Given the description of an element on the screen output the (x, y) to click on. 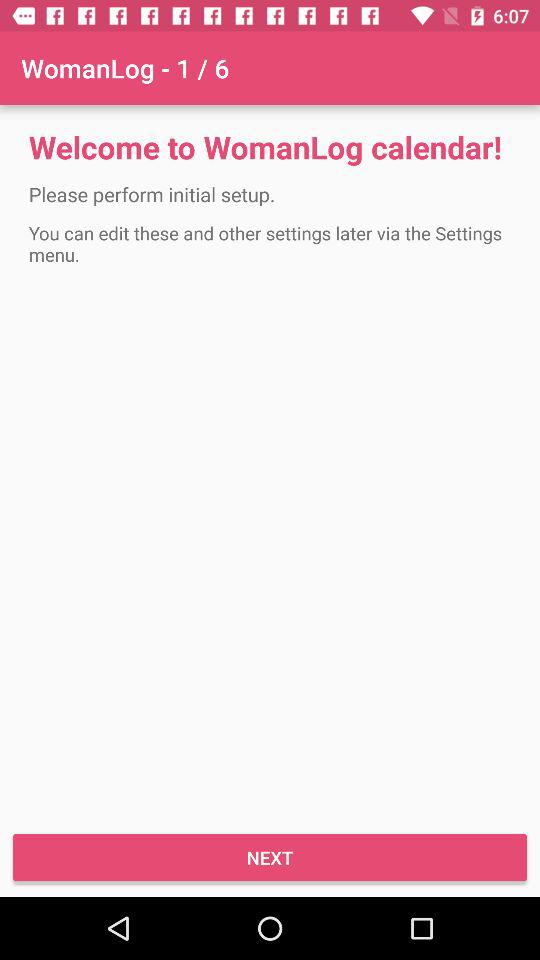
jump to the next icon (269, 857)
